Given the description of an element on the screen output the (x, y) to click on. 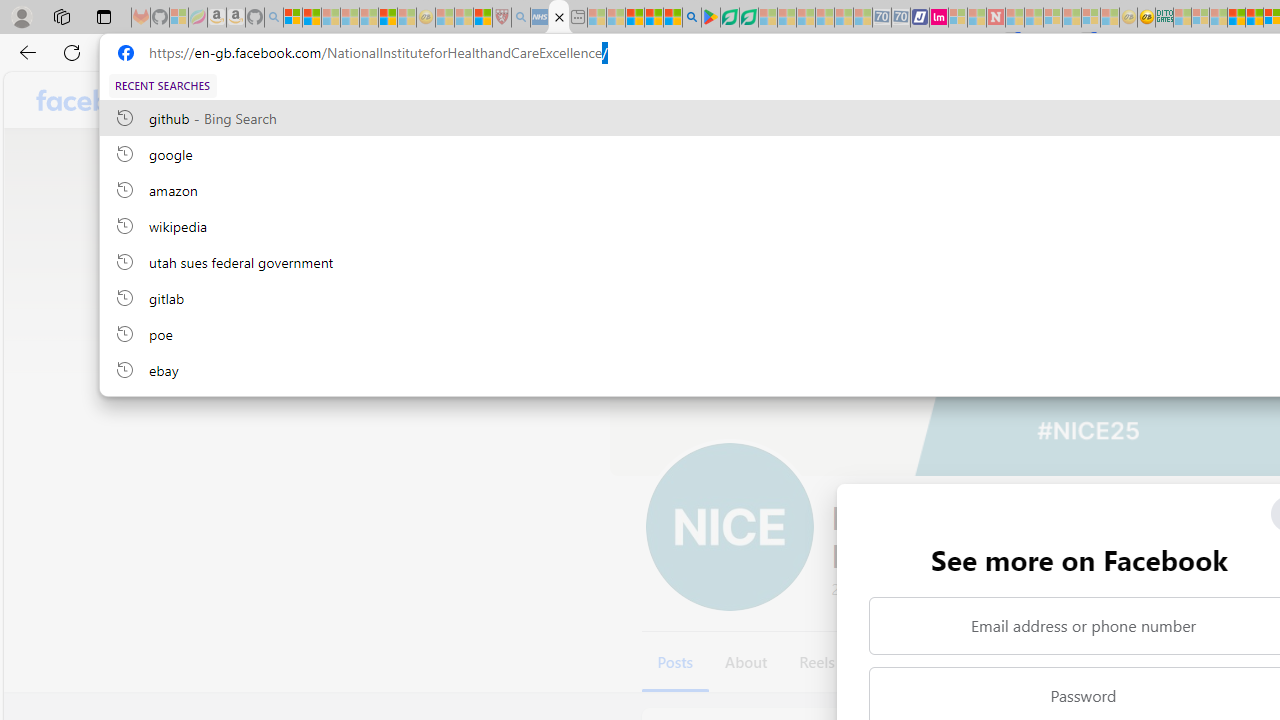
Recipes - MSN - Sleeping (445, 17)
NCL Adult Asthma Inhaler Choice Guideline - Sleeping (540, 17)
MSNBC - MSN - Sleeping (1182, 17)
Terms of Use Agreement (729, 17)
DITOGAMES AG Imprint (1163, 17)
